Given the description of an element on the screen output the (x, y) to click on. 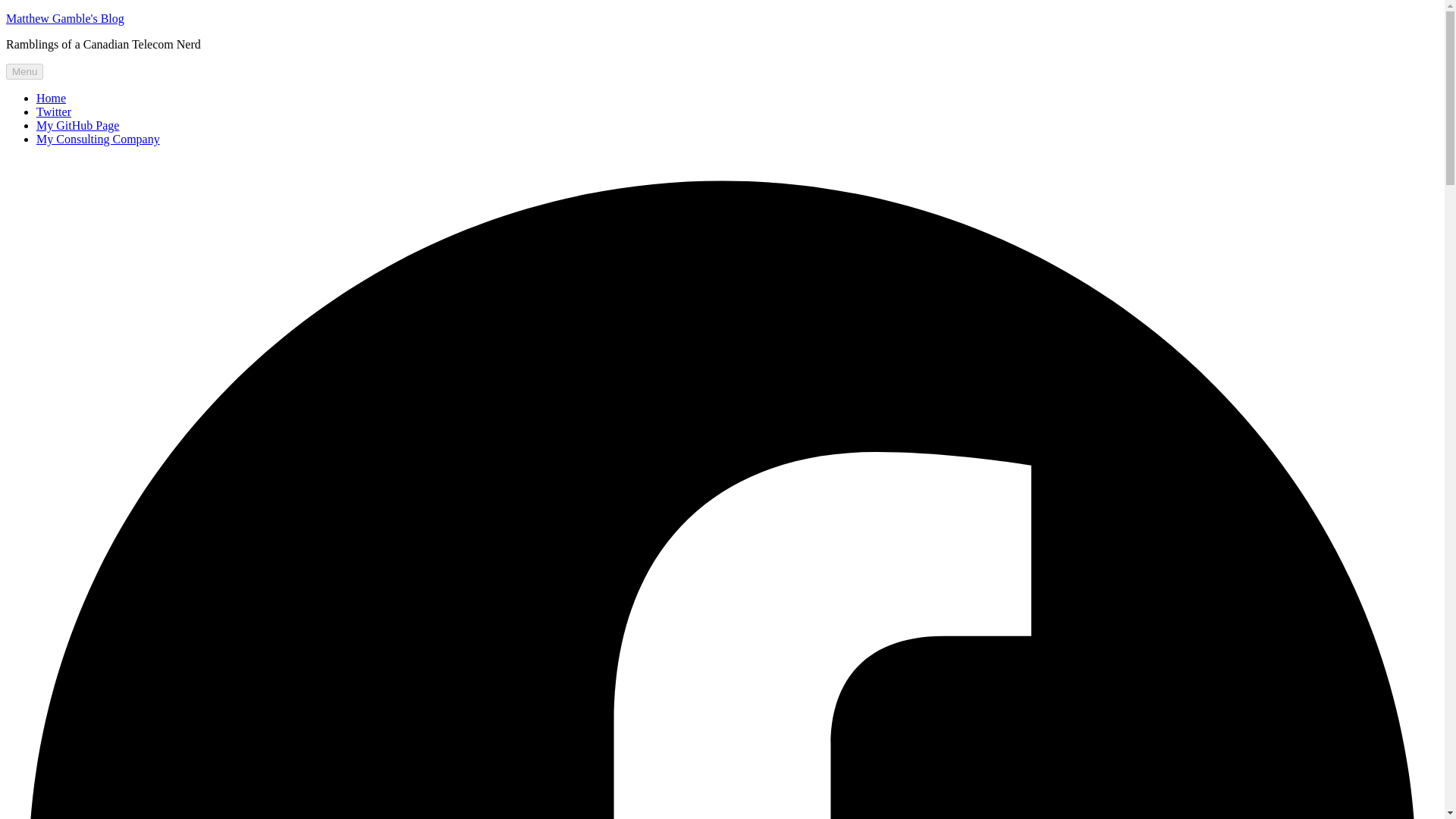
My Consulting Company (98, 138)
Twitter (53, 111)
Home (50, 97)
My GitHub Page (77, 124)
Matthew Gamble's Blog (64, 18)
Menu (24, 71)
